Given the description of an element on the screen output the (x, y) to click on. 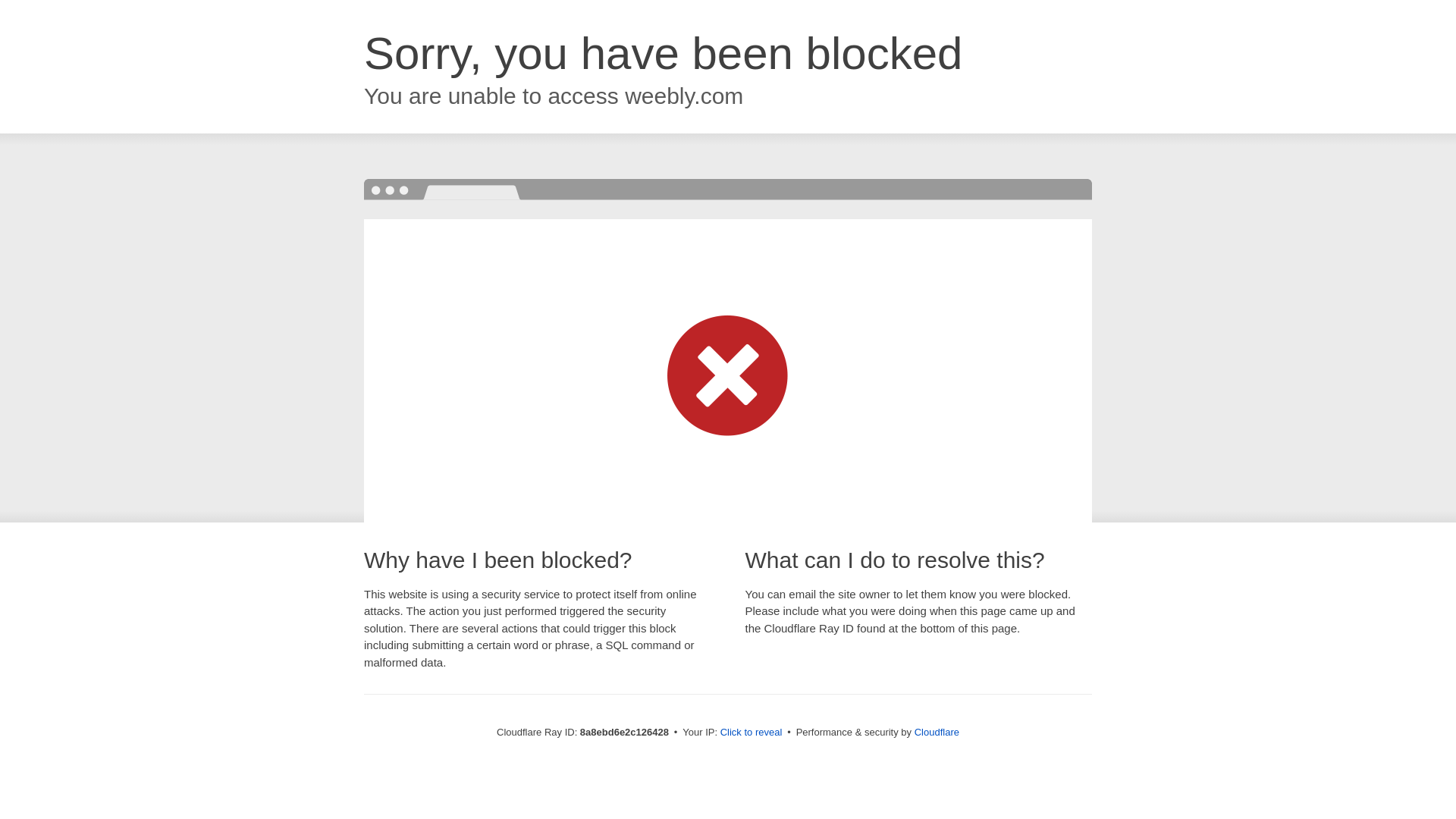
Cloudflare (936, 731)
Click to reveal (751, 732)
